Given the description of an element on the screen output the (x, y) to click on. 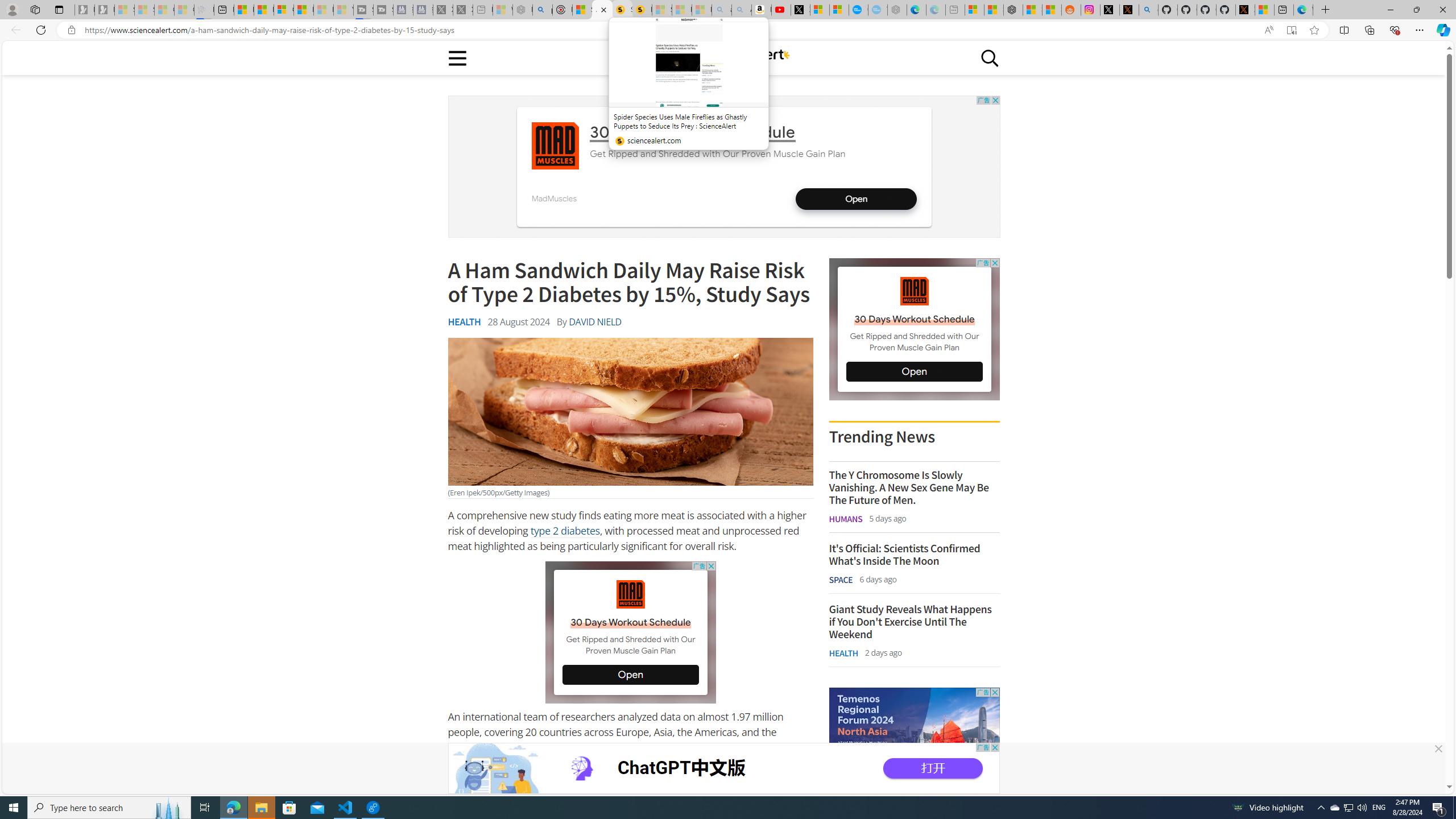
Welcome to Microsoft Edge (1302, 9)
help.x.com | 524: A timeout occurred (1129, 9)
Michelle Starr, Senior Journalist at ScienceAlert (641, 9)
Newsletter Sign Up - Sleeping (104, 9)
Nordace - Nordace has arrived Hong Kong - Sleeping (896, 9)
Overview (283, 9)
Microsoft account | Microsoft Account Privacy Settings (973, 9)
